Given the description of an element on the screen output the (x, y) to click on. 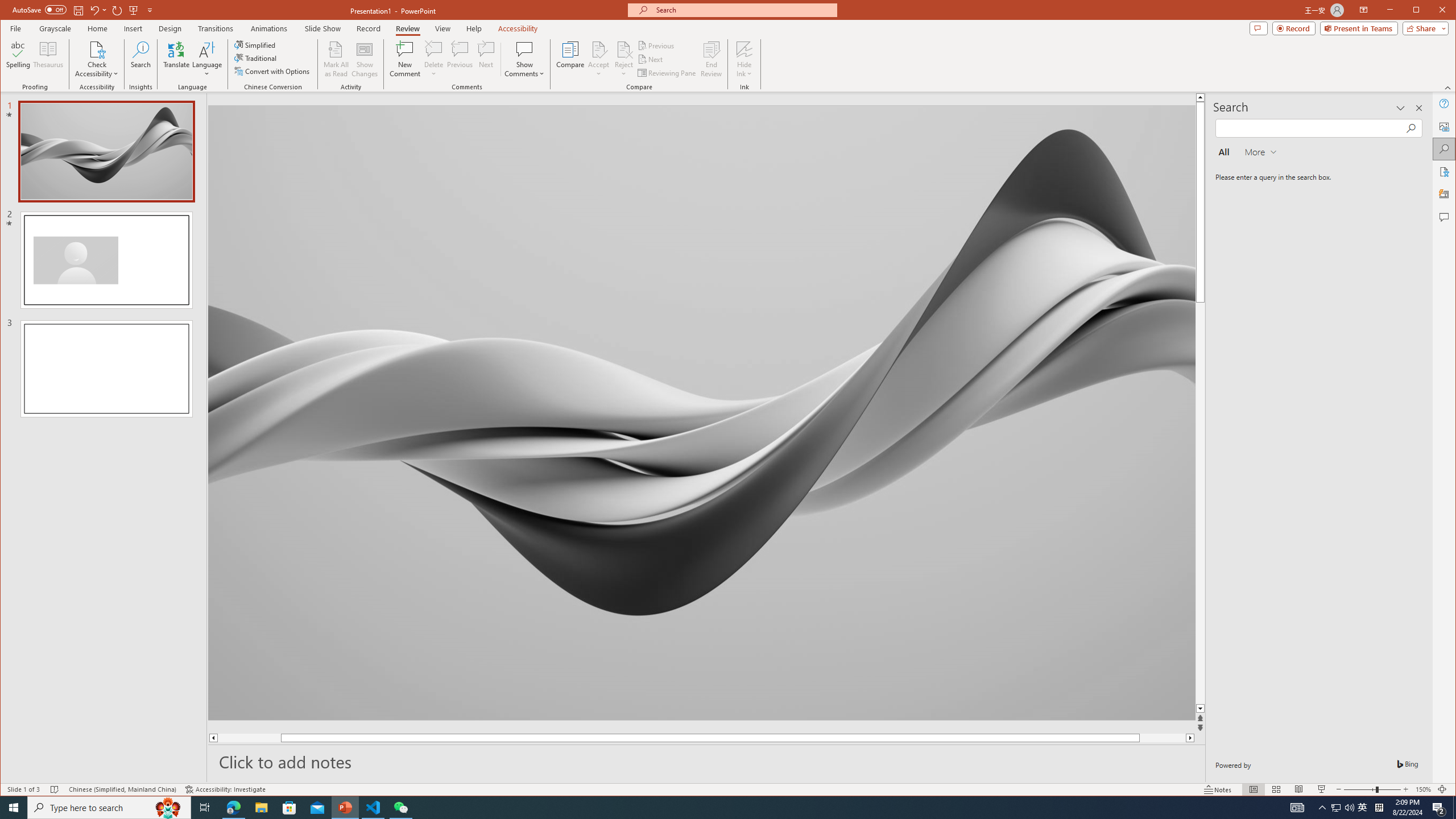
Translate (175, 59)
Reject (623, 59)
